Given the description of an element on the screen output the (x, y) to click on. 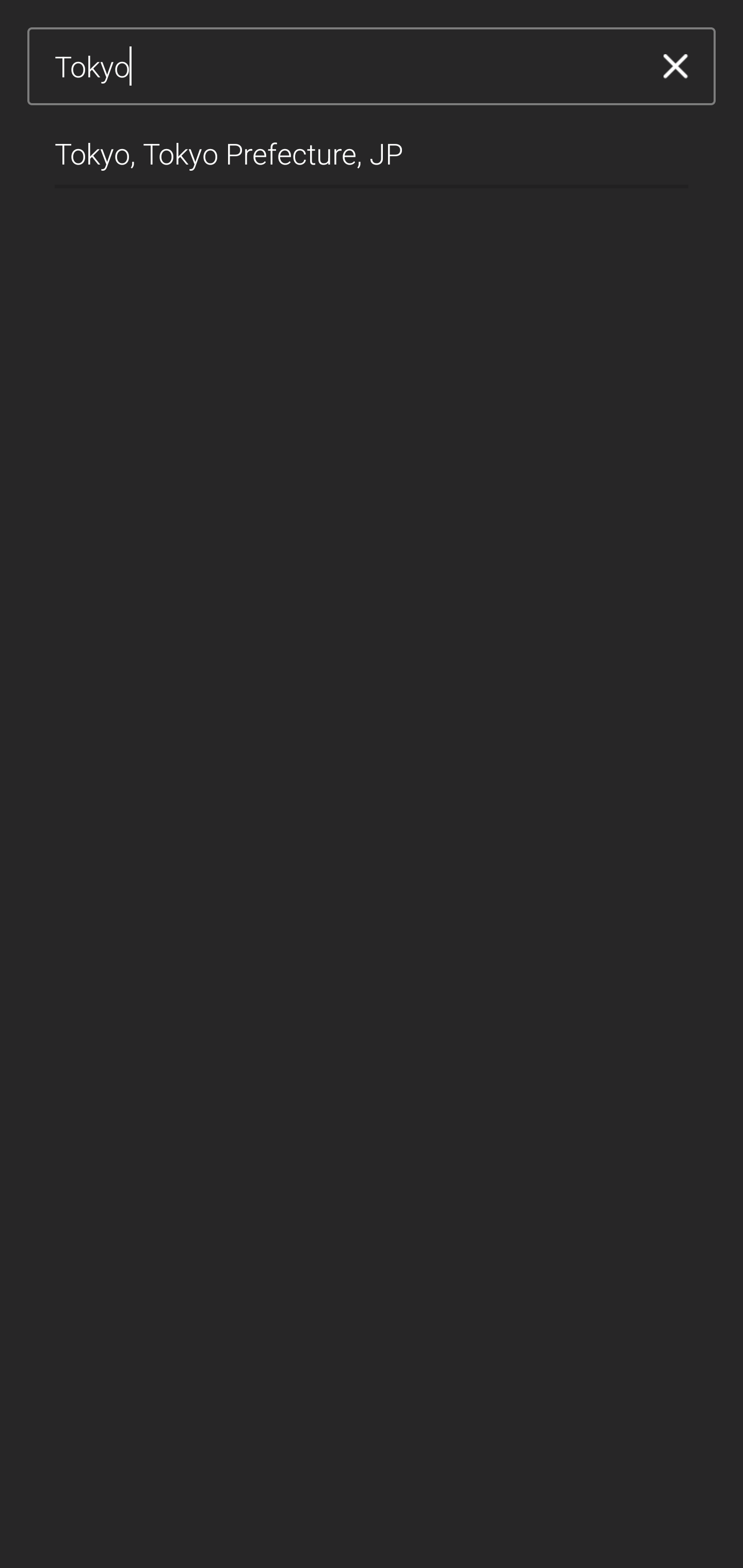
Tokyo (345, 66)
Tokyo, Tokyo Prefecture, JP (371, 146)
